Given the description of an element on the screen output the (x, y) to click on. 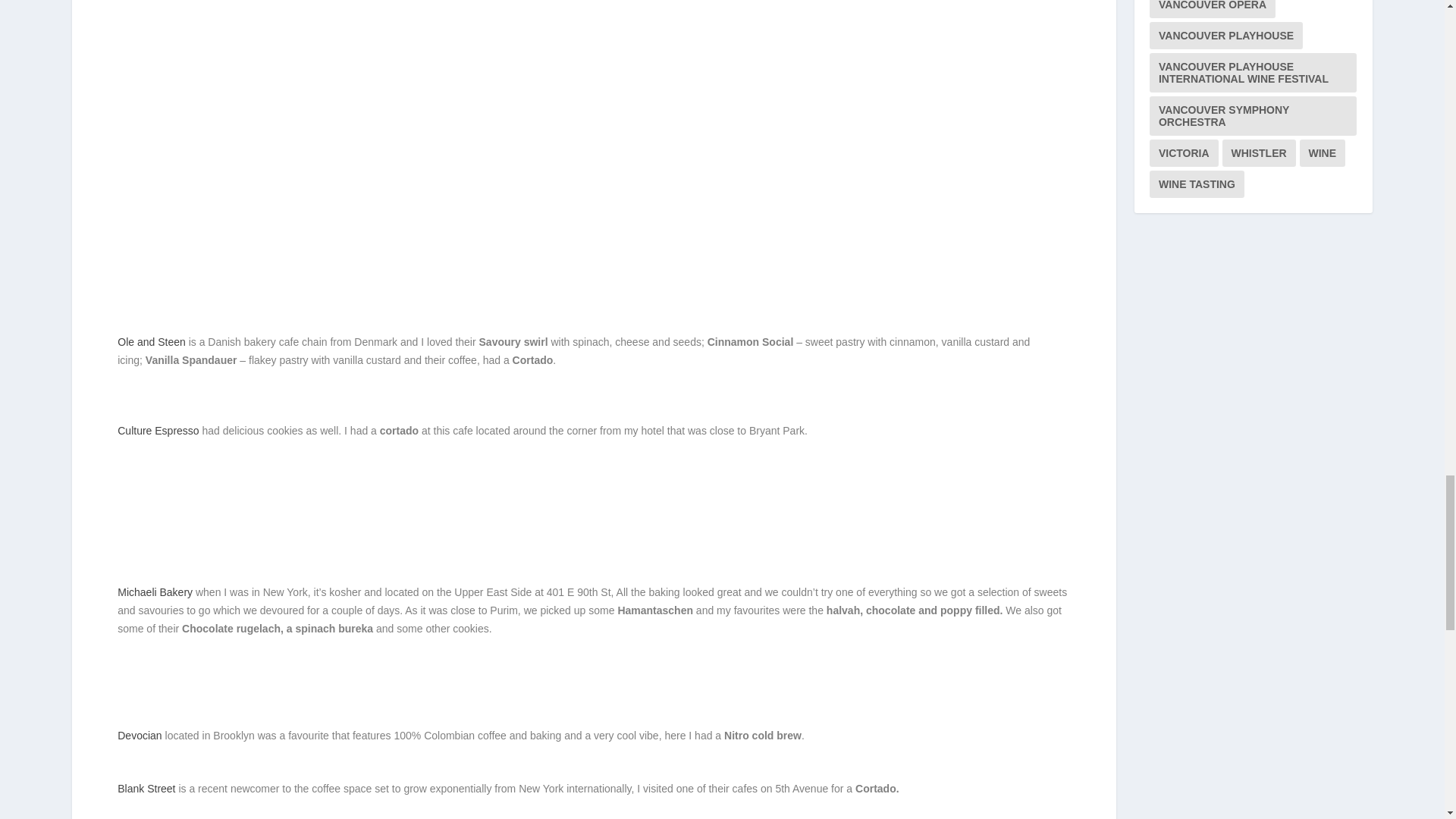
Michaeli Bakery (154, 592)
Ole and Steen (151, 341)
Culture Espresso (157, 430)
